Given the description of an element on the screen output the (x, y) to click on. 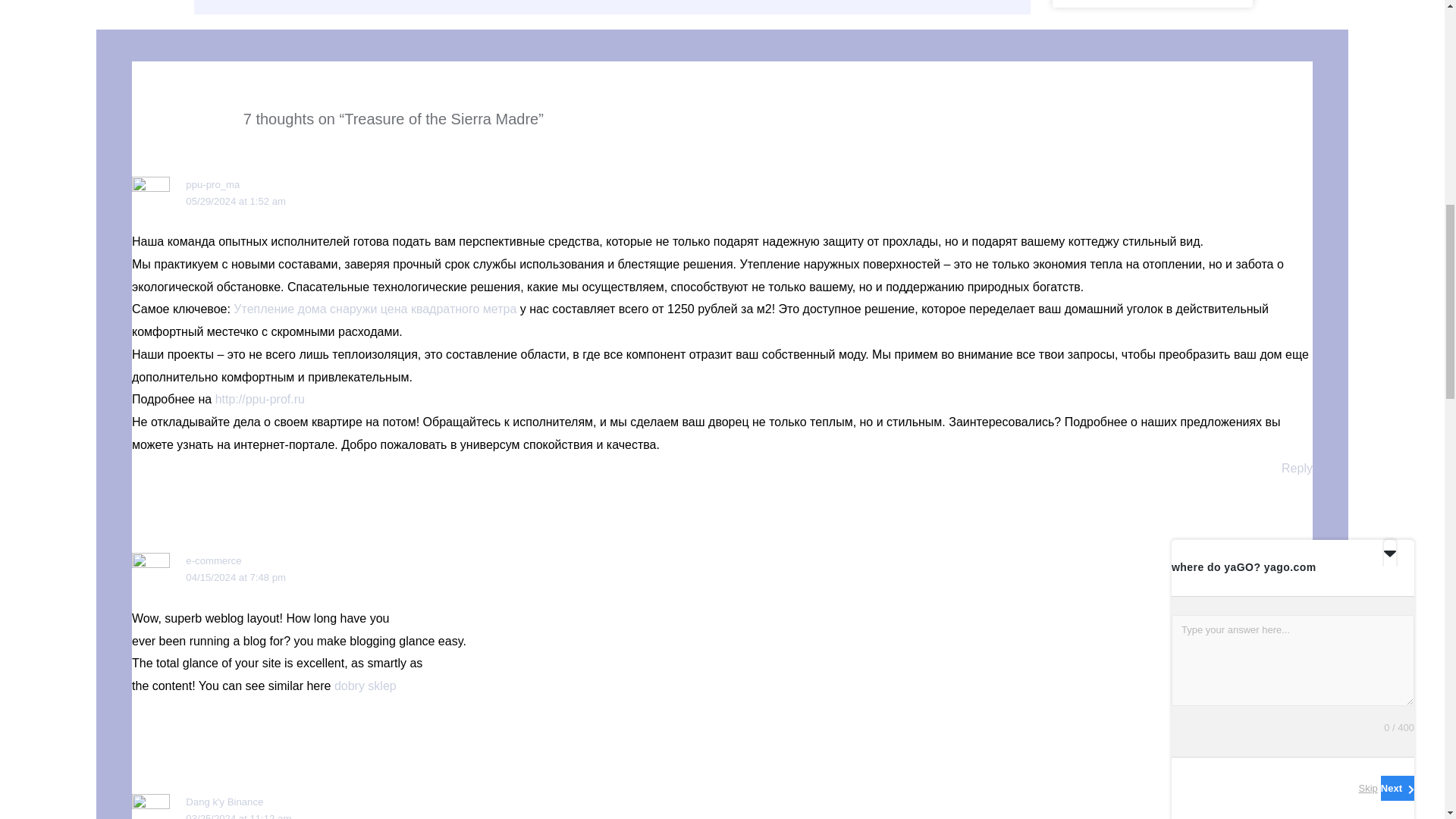
dobry sklep (365, 685)
e-commerce (213, 560)
Reply (1297, 709)
Reply (1297, 468)
Dang k'y Binance (224, 801)
